Given the description of an element on the screen output the (x, y) to click on. 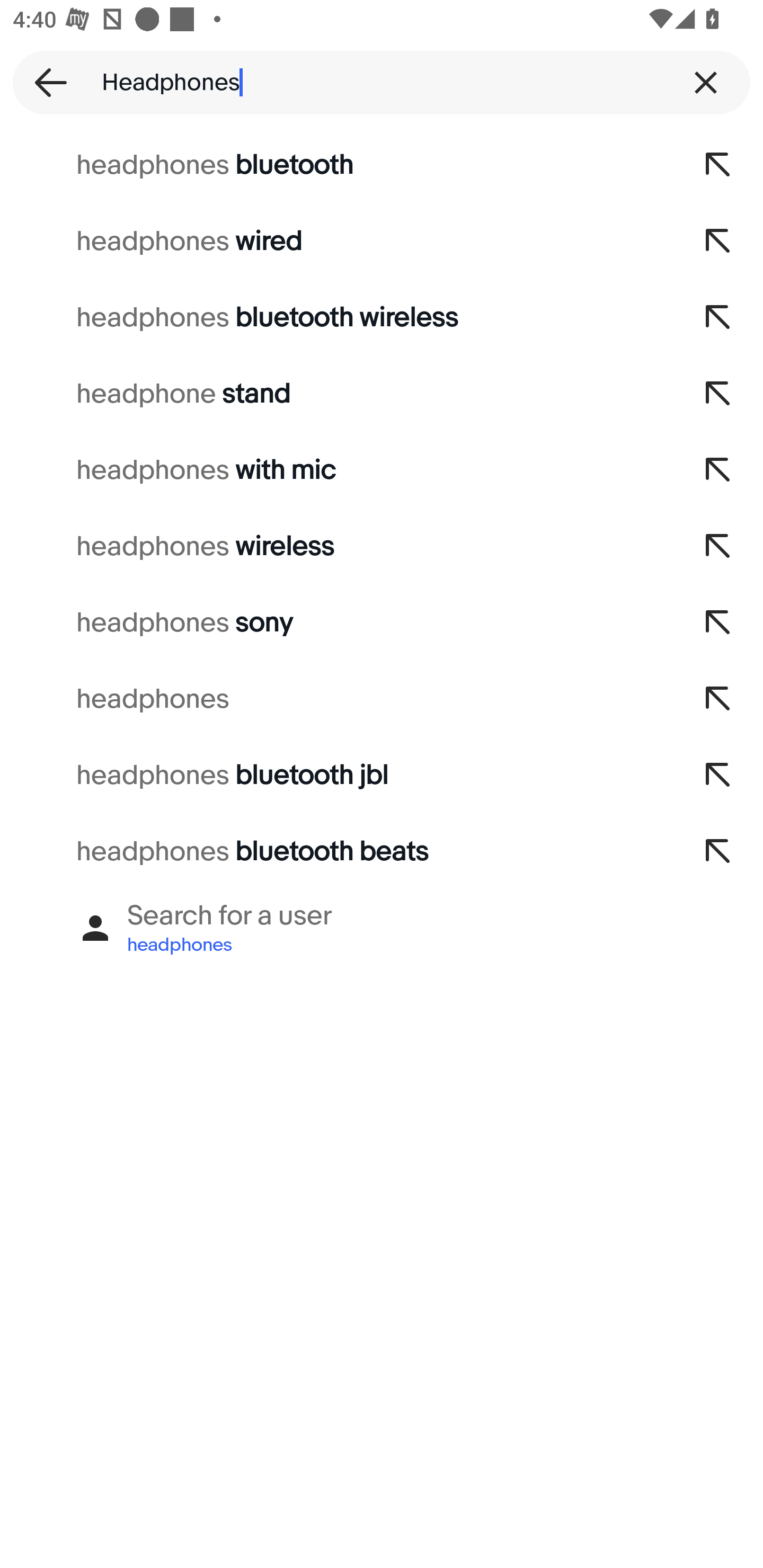
Back (44, 82)
Clear query (705, 82)
Headphones (381, 82)
headphones bluetooth (336, 165)
Add to search query,headphones bluetooth (718, 165)
headphones wired (336, 241)
Add to search query,headphones wired (718, 241)
headphones bluetooth wireless (336, 317)
Add to search query,headphones bluetooth wireless (718, 317)
headphone stand (336, 393)
Add to search query,headphone stand (718, 393)
headphones with mic (336, 470)
Add to search query,headphones with mic (718, 470)
headphones wireless (336, 546)
Add to search query,headphones wireless (718, 546)
headphones sony (336, 622)
Add to search query,headphones sony (718, 622)
headphones (336, 698)
Add to search query,headphones (718, 698)
headphones bluetooth jbl (336, 774)
